Given the description of an element on the screen output the (x, y) to click on. 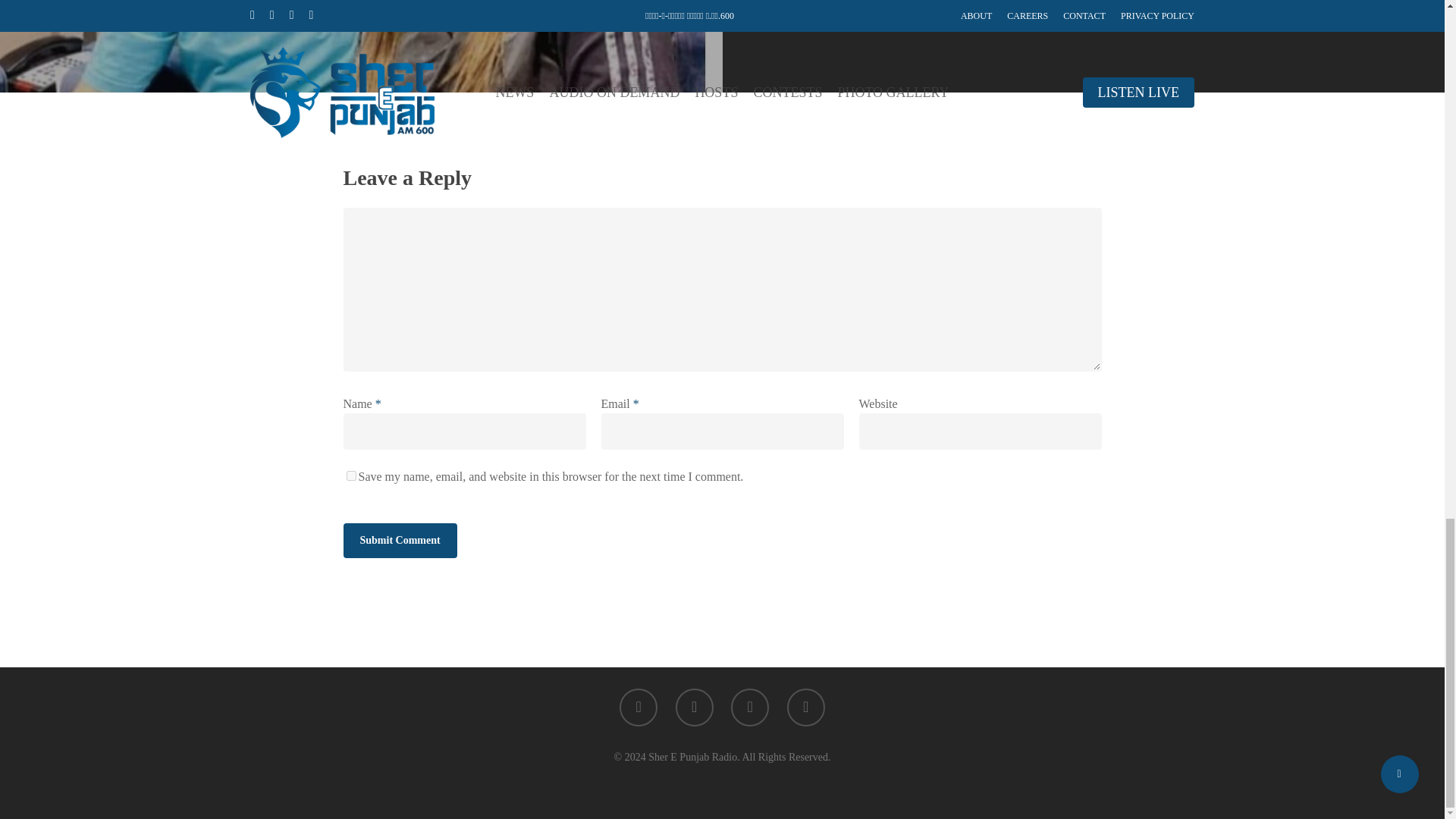
Submit Comment (399, 540)
Submit Comment (399, 540)
yes (350, 475)
